Given the description of an element on the screen output the (x, y) to click on. 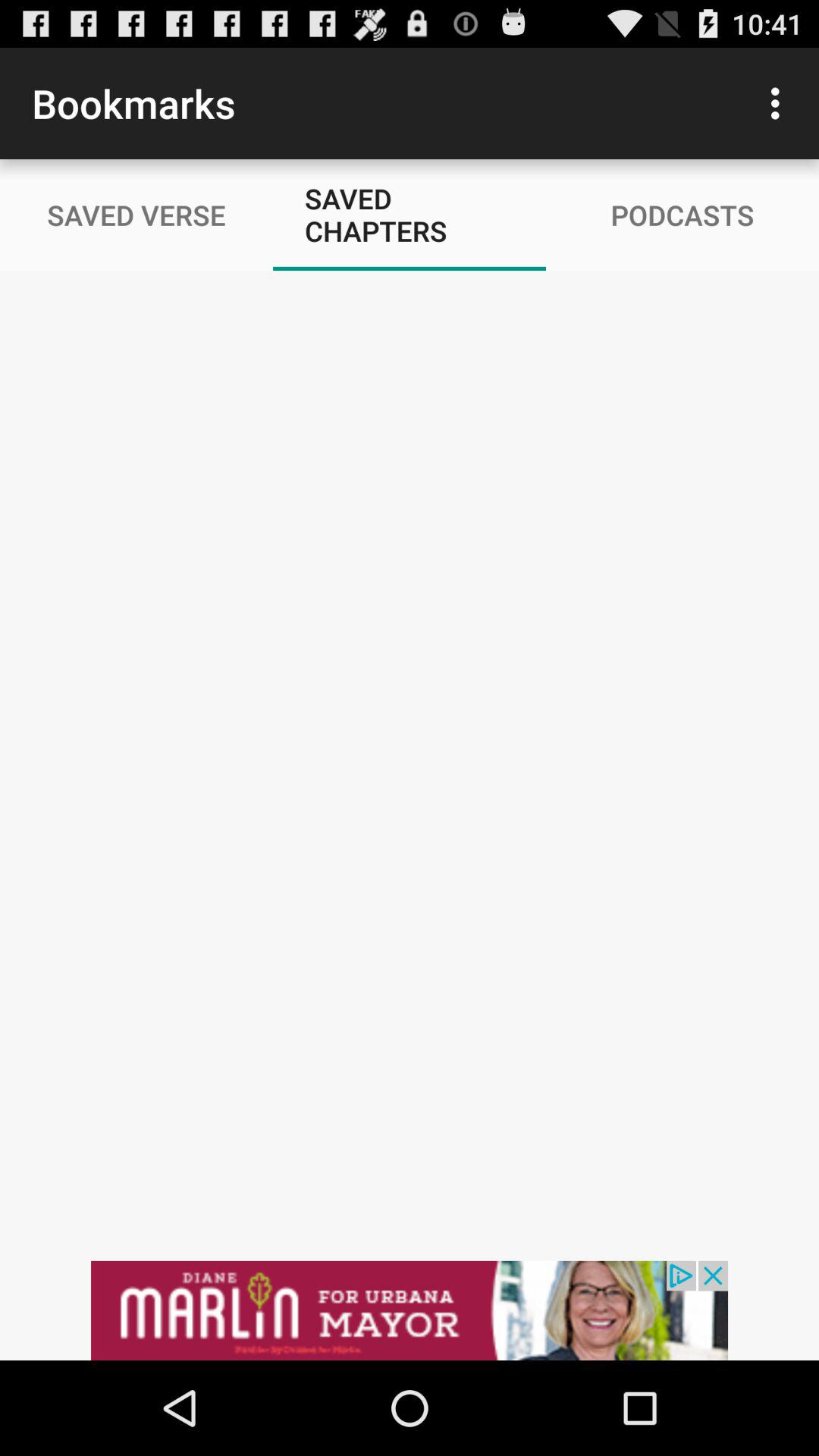
go to advertiser site (409, 1310)
